Given the description of an element on the screen output the (x, y) to click on. 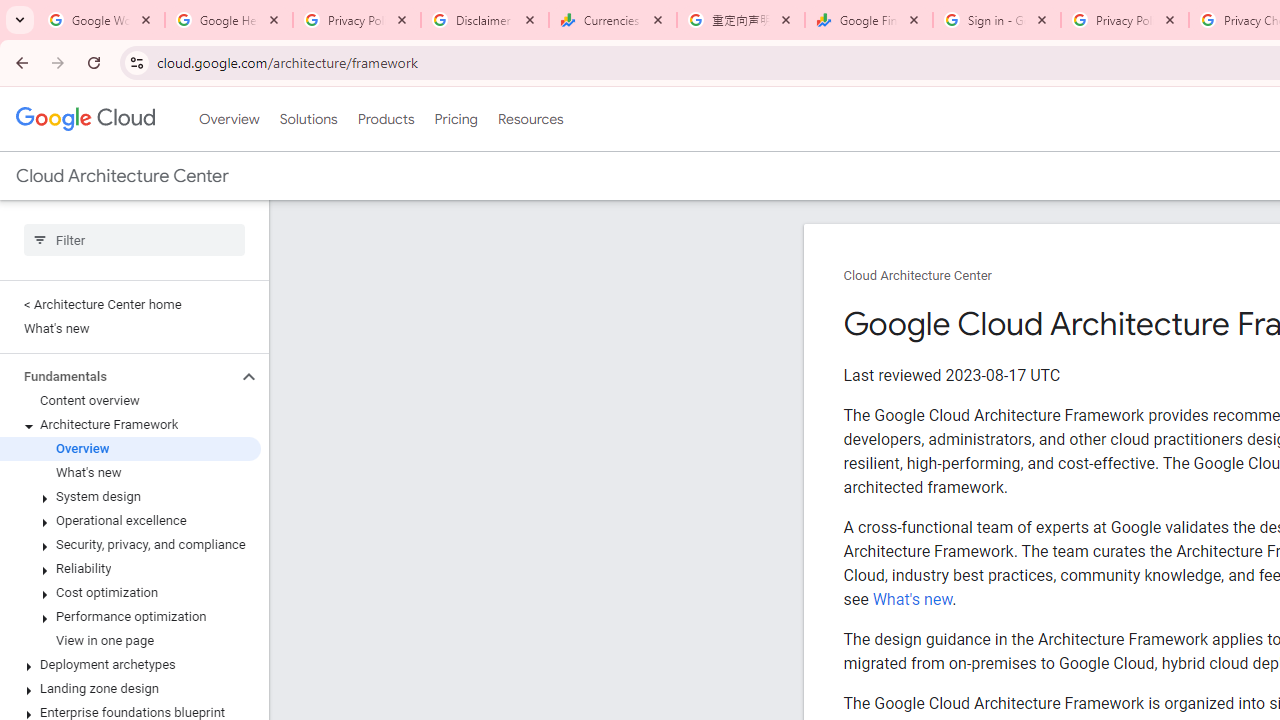
System design (130, 497)
Currencies - Google Finance (613, 20)
Performance optimization (130, 616)
Fundamentals (118, 376)
Resources (530, 119)
Google Cloud (84, 118)
Sign in - Google Accounts (997, 20)
< Architecture Center home (130, 304)
Pricing (455, 119)
